Given the description of an element on the screen output the (x, y) to click on. 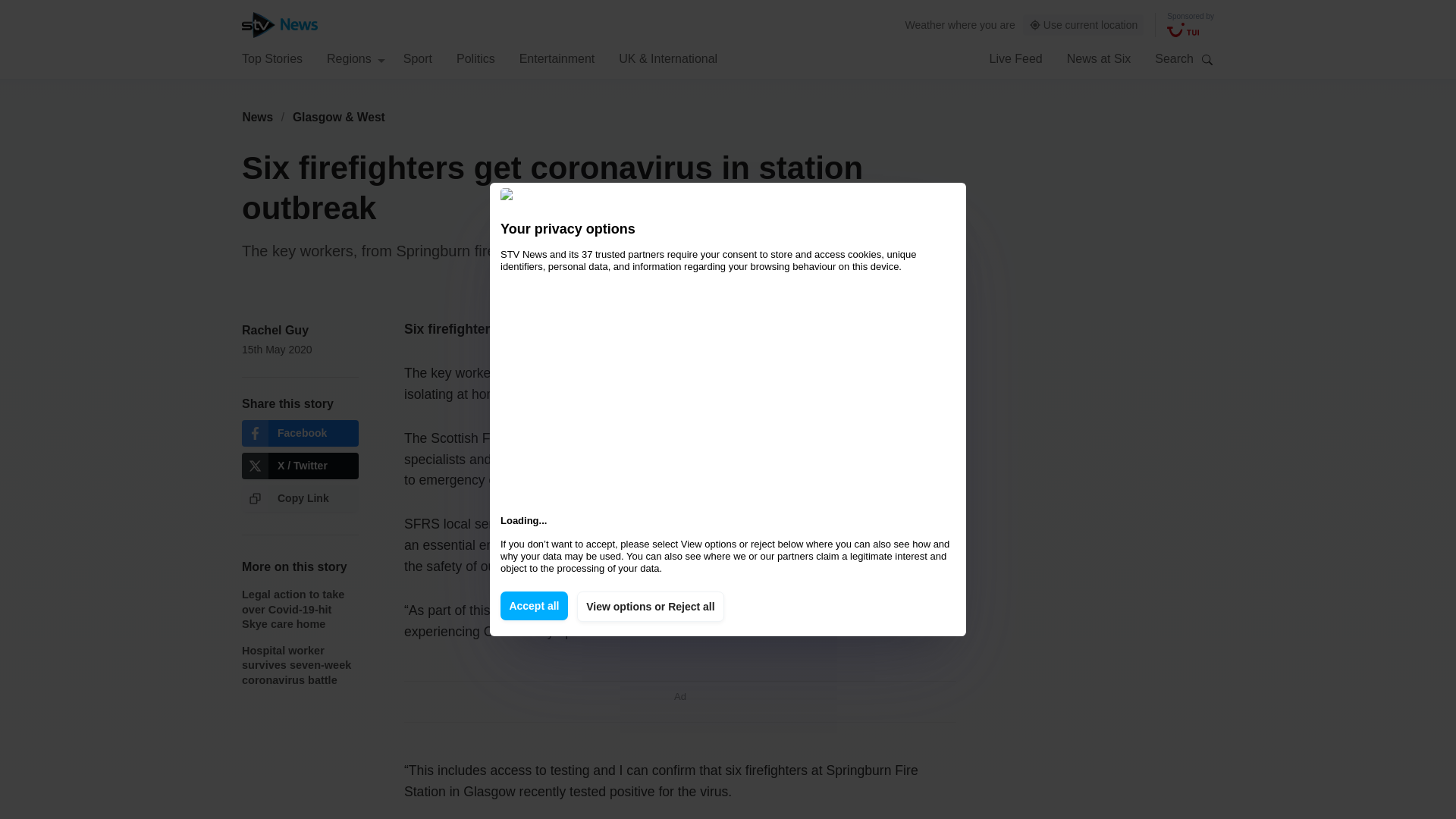
Top Stories (271, 57)
Politics (476, 57)
Live Feed (1015, 57)
News at Six (1099, 57)
Use current location (1083, 25)
Entertainment (557, 57)
News (257, 116)
Weather (924, 24)
Regions (355, 57)
Rachel Guy (274, 329)
Search (1206, 59)
